Given the description of an element on the screen output the (x, y) to click on. 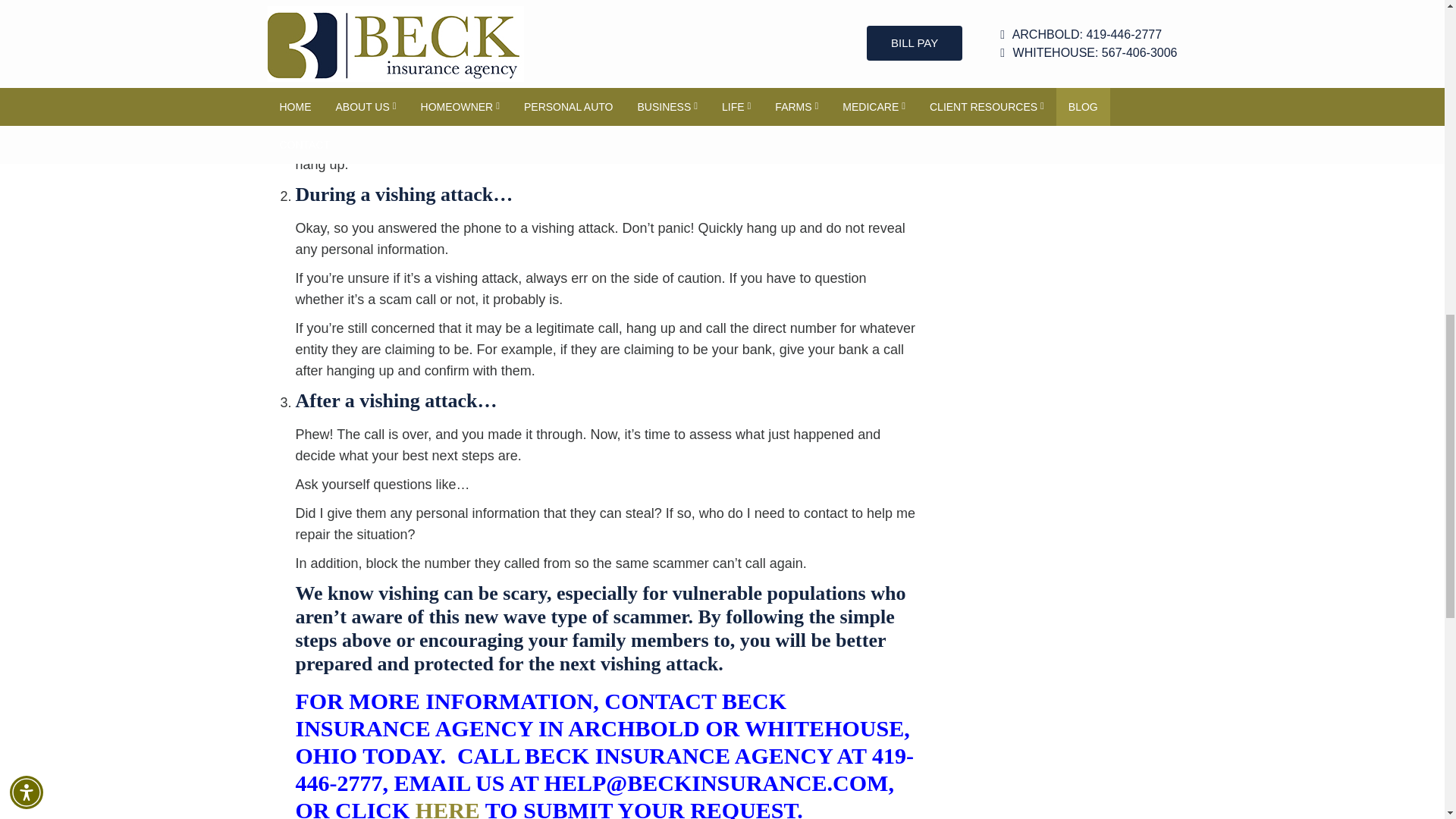
HERE (447, 808)
CYBERSCOUT (728, 71)
